Given the description of an element on the screen output the (x, y) to click on. 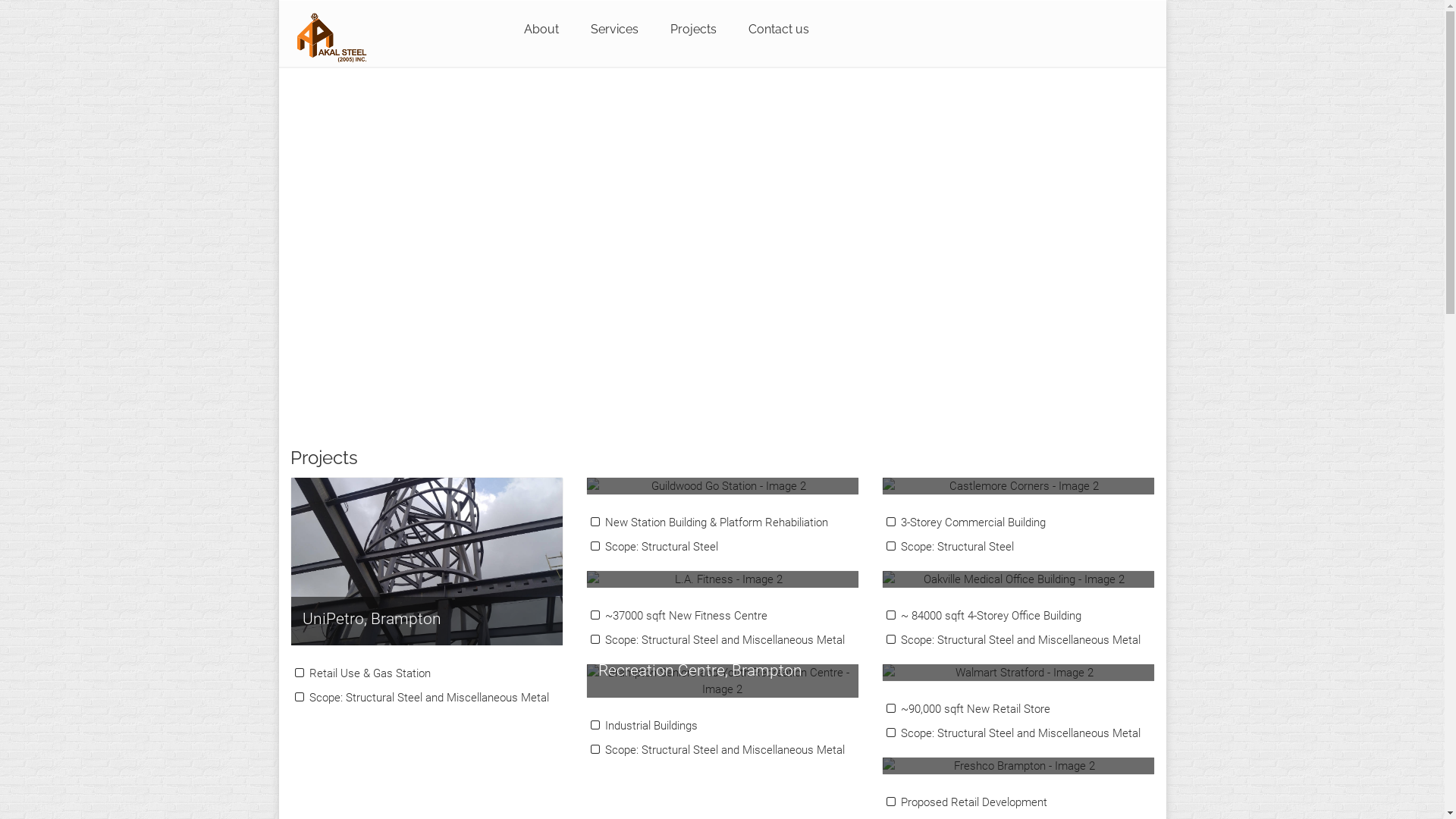
About Element type: text (541, 29)
Projects Element type: text (693, 29)
Services Element type: text (614, 29)
Contact us Element type: text (778, 29)
